Given the description of an element on the screen output the (x, y) to click on. 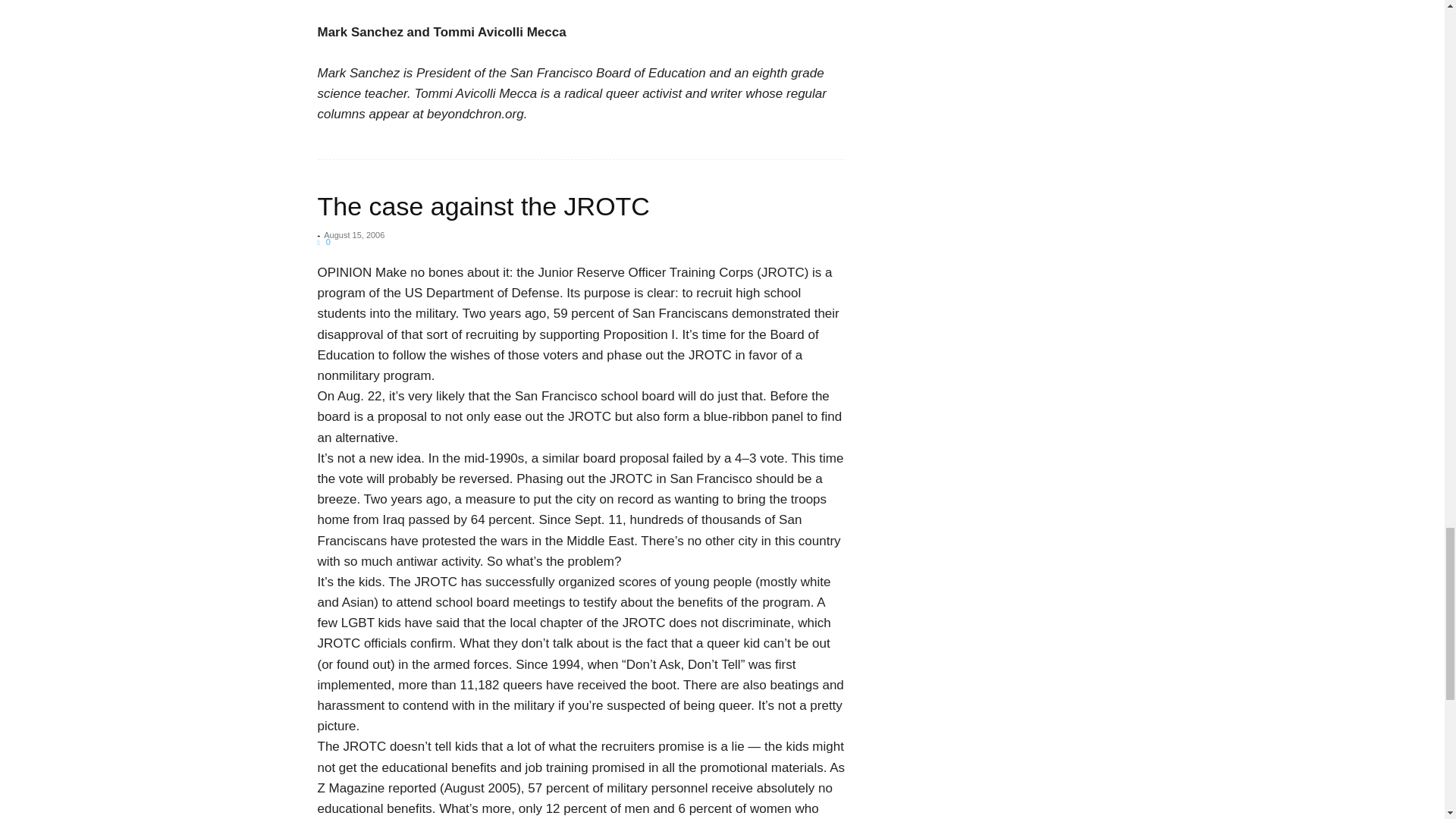
The case against the JROTC (483, 205)
